Given the description of an element on the screen output the (x, y) to click on. 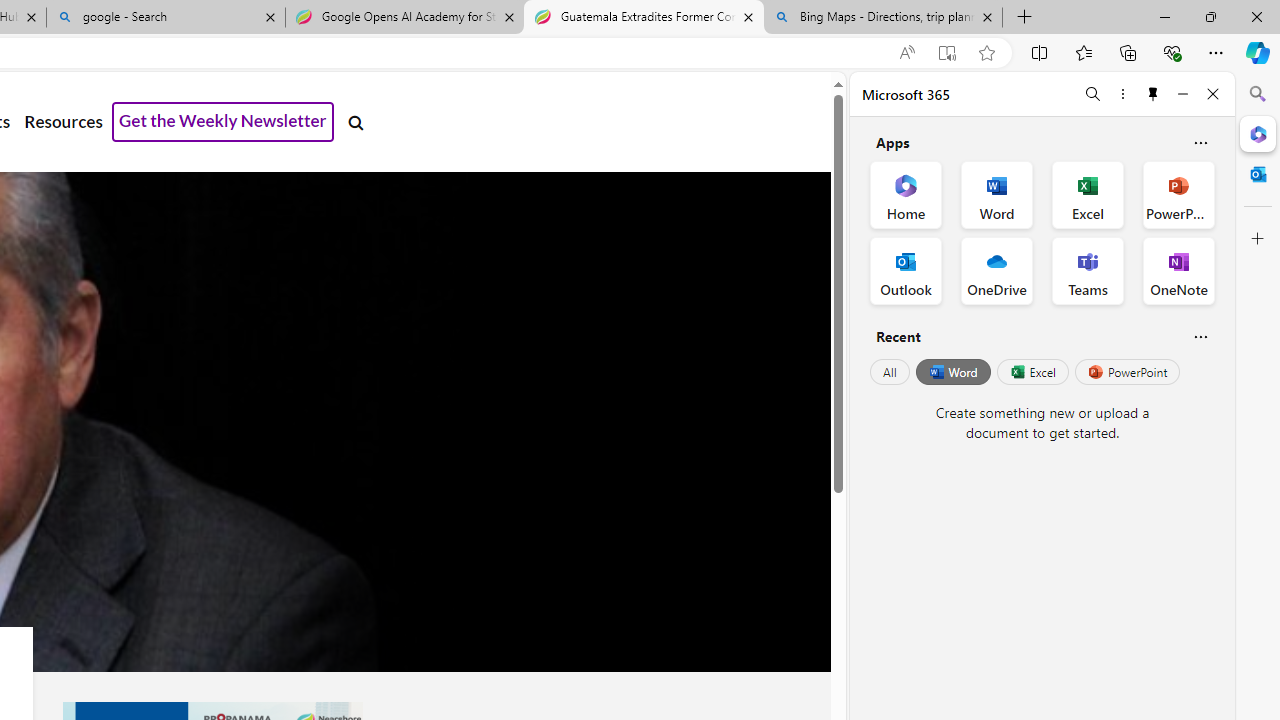
Unpin side pane (1153, 93)
Enter Immersive Reader (F9) (946, 53)
All (890, 372)
Word Office App (996, 194)
Excel (1031, 372)
OneDrive Office App (996, 270)
